Given the description of an element on the screen output the (x, y) to click on. 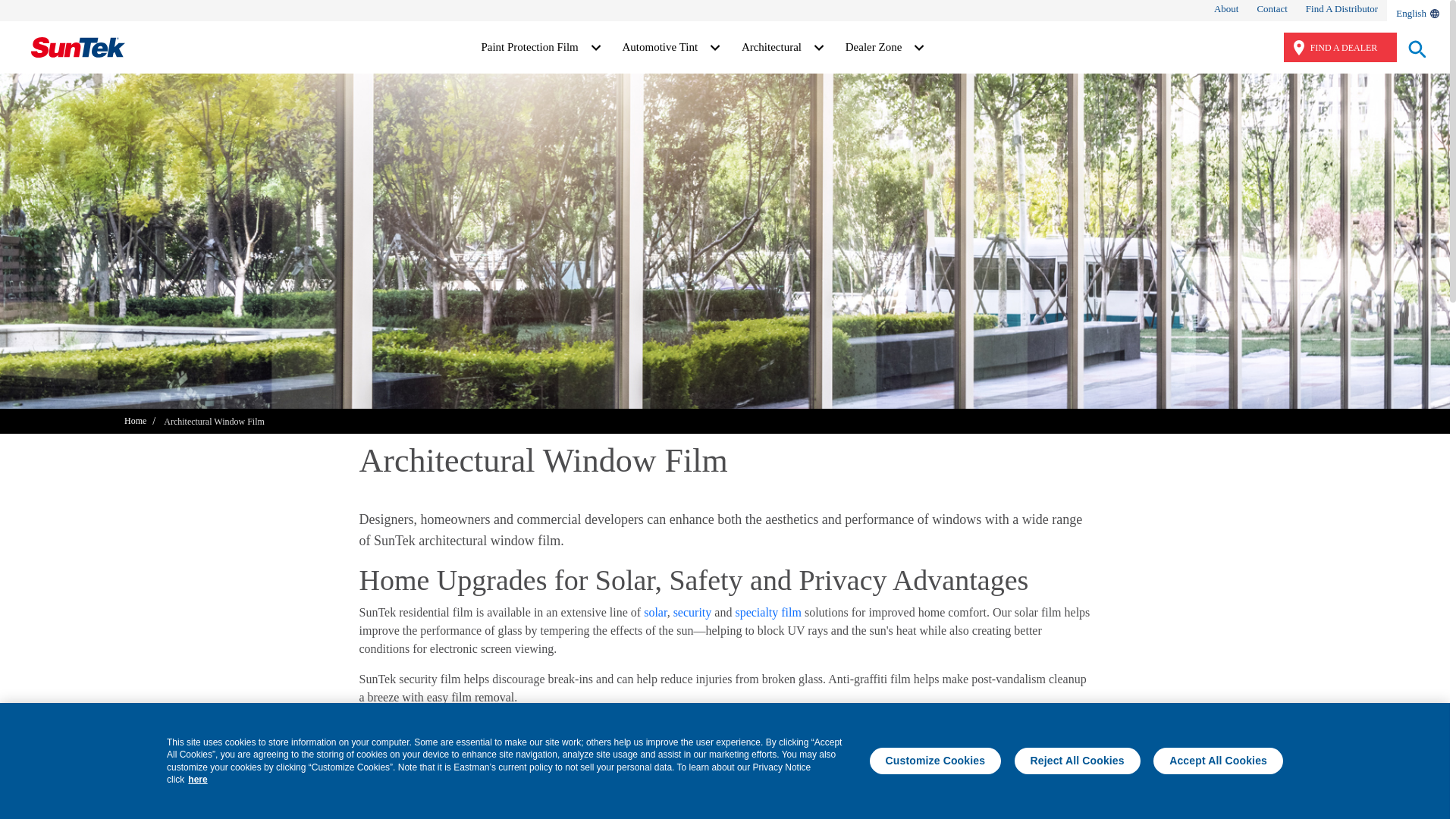
About (1226, 8)
English (1418, 12)
Find A Distributor (1341, 8)
Contact (1271, 8)
